Given the description of an element on the screen output the (x, y) to click on. 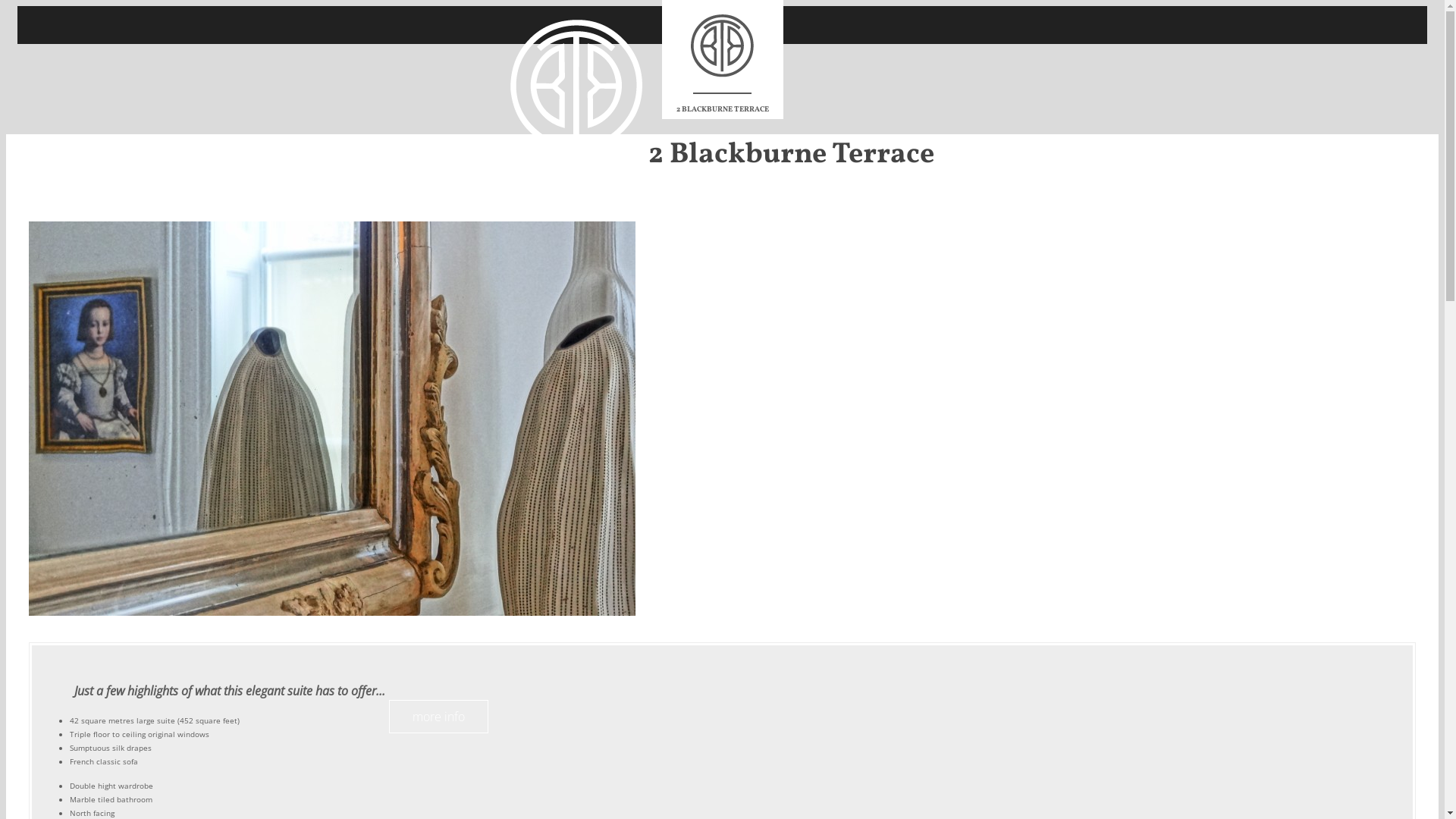
more info Element type: text (437, 716)
2 Blackburne Terrace Element type: text (722, 154)
Gallery Element type: text (883, 209)
Offers Element type: text (848, 209)
About Element type: text (567, 209)
GNYP Liverpool Element type: text (979, 209)
Contact Element type: text (920, 209)
Rooms Element type: text (472, 209)
Press Element type: text (818, 209)
Reservations Element type: text (521, 209)
